Given the description of an element on the screen output the (x, y) to click on. 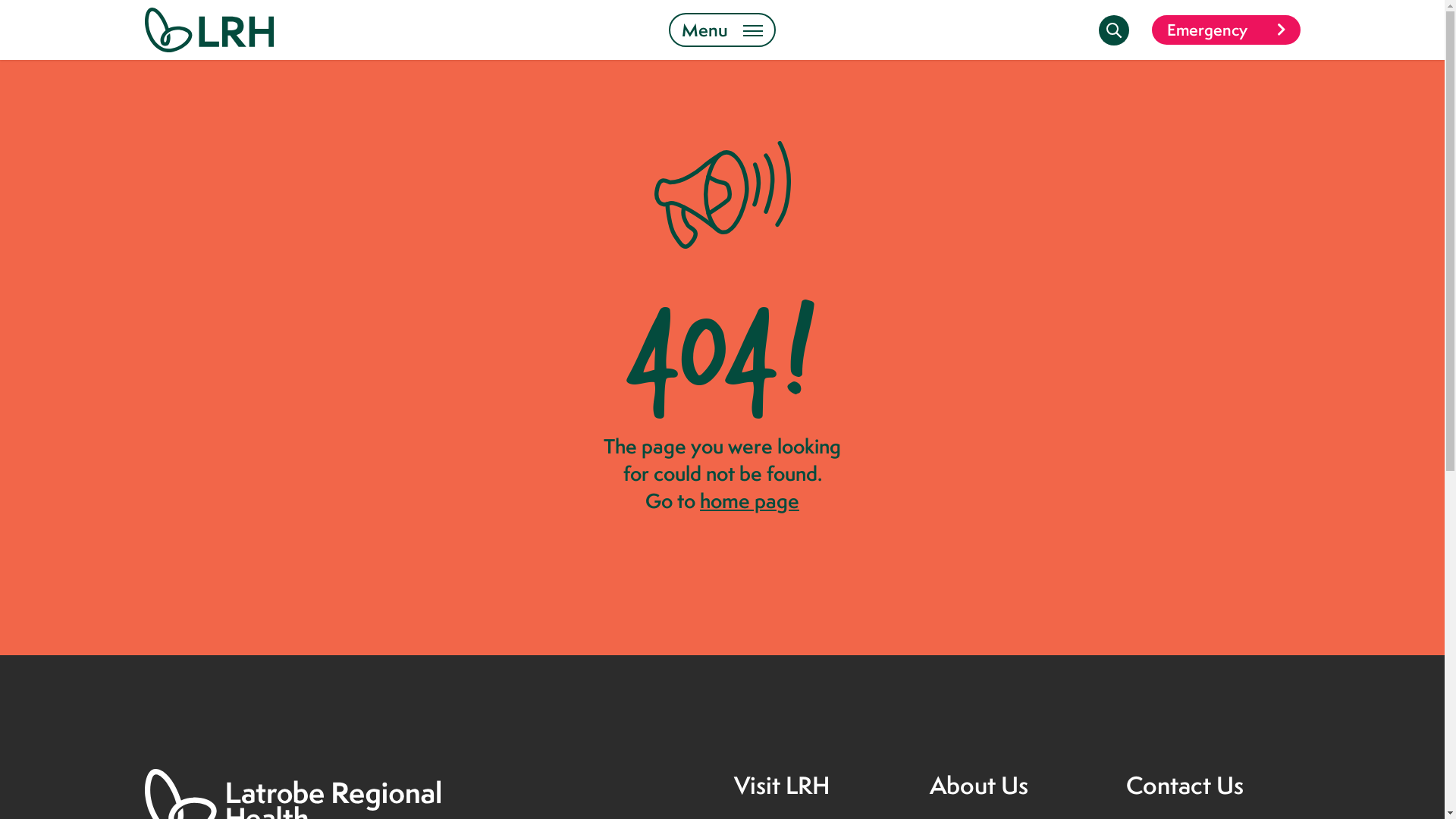
Emergency Element type: text (1225, 29)
home page Element type: text (749, 500)
